Given the description of an element on the screen output the (x, y) to click on. 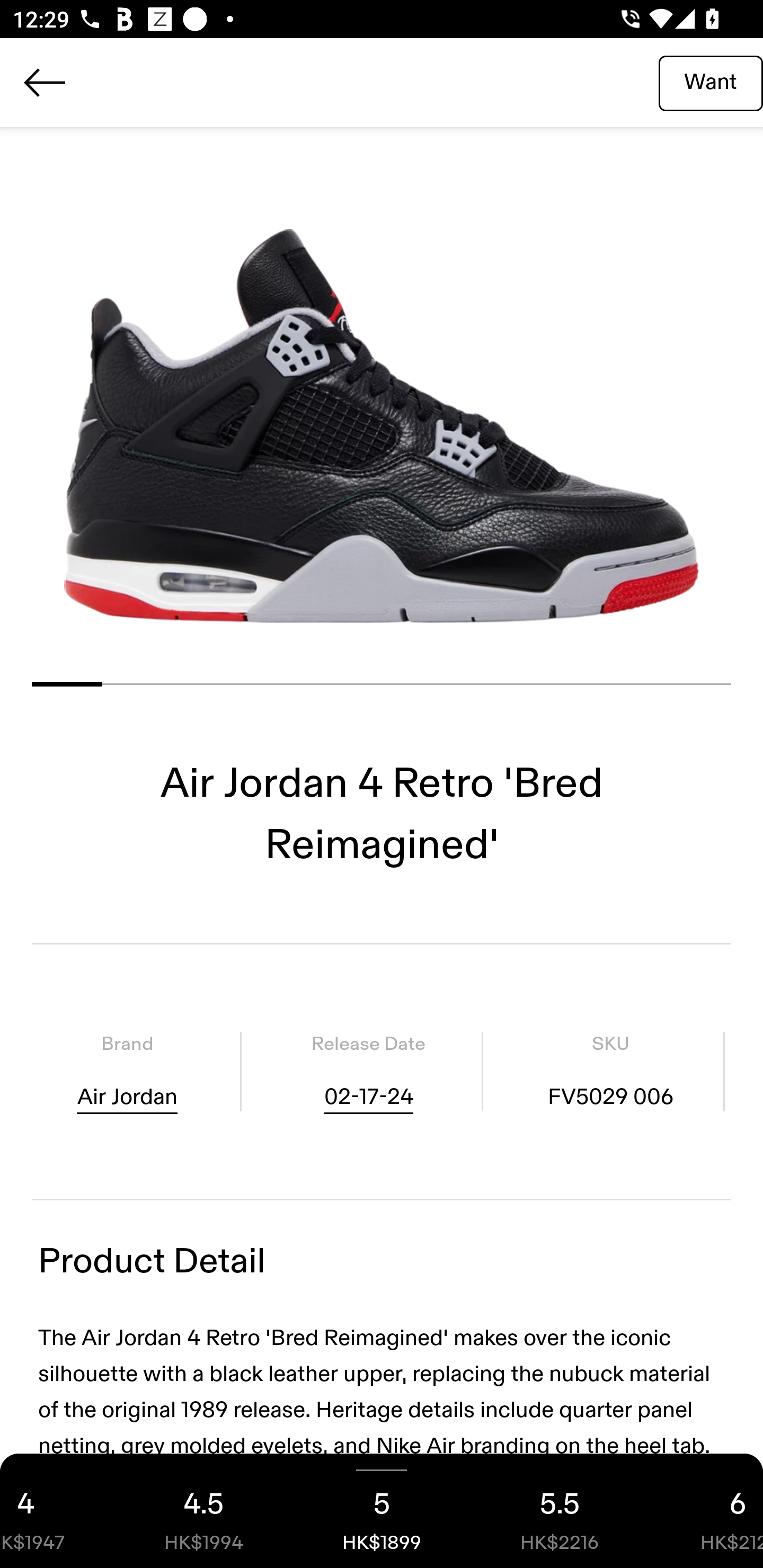
Want (710, 82)
Brand Air Jordan (126, 1070)
Release Date 02-17-24 (368, 1070)
SKU FV5029 006 (609, 1070)
4 HK$1947 (57, 1510)
4.5 HK$1994 (203, 1510)
5 HK$1899 (381, 1510)
5.5 HK$2216 (559, 1510)
6 HK$2121 (705, 1510)
